Given the description of an element on the screen output the (x, y) to click on. 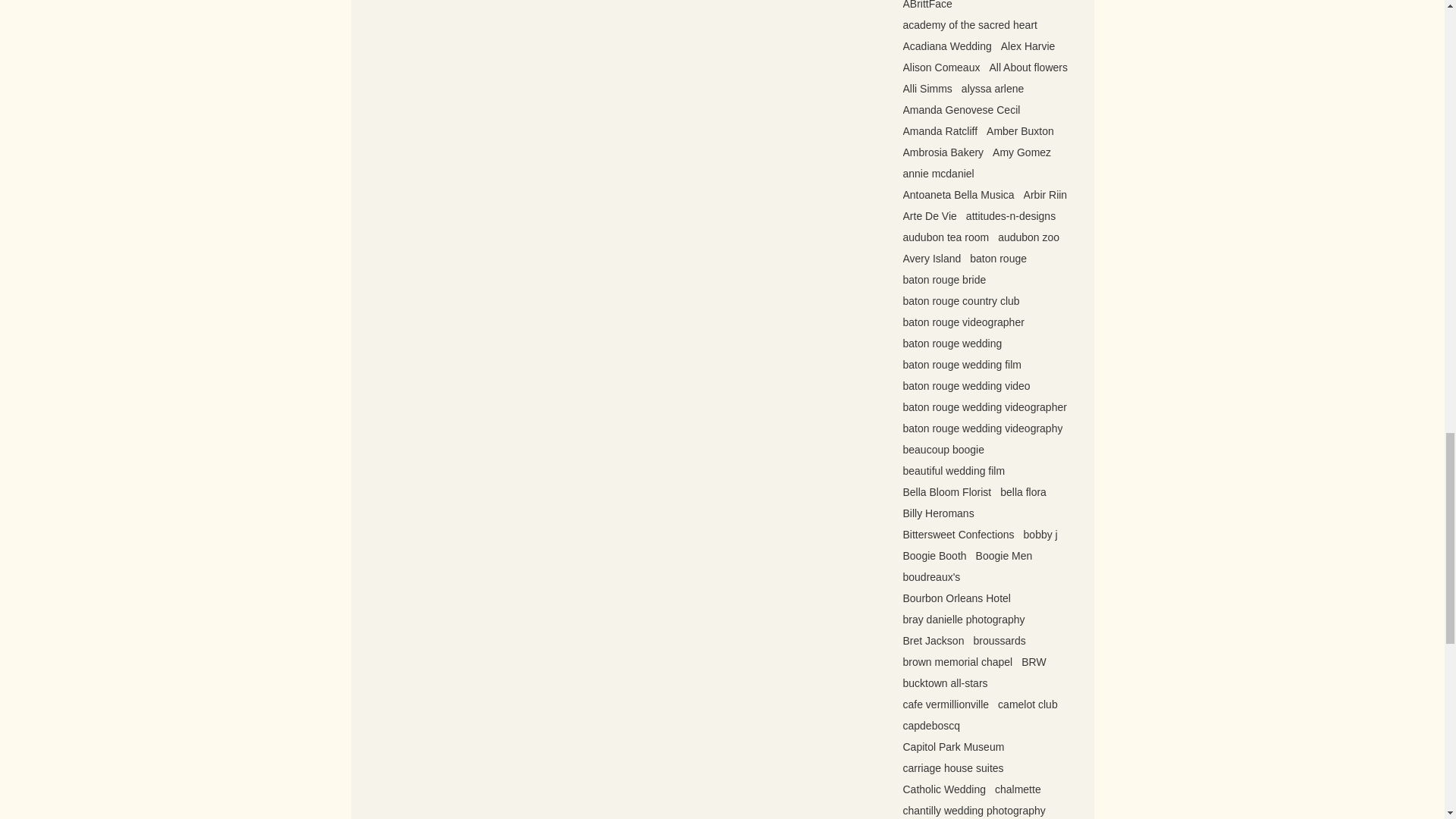
ABrittFace (927, 4)
Acadiana Wedding (946, 46)
Alex Harvie (1028, 46)
All About flowers (1027, 67)
academy of the sacred heart (969, 24)
Alison Comeaux (940, 67)
